Given the description of an element on the screen output the (x, y) to click on. 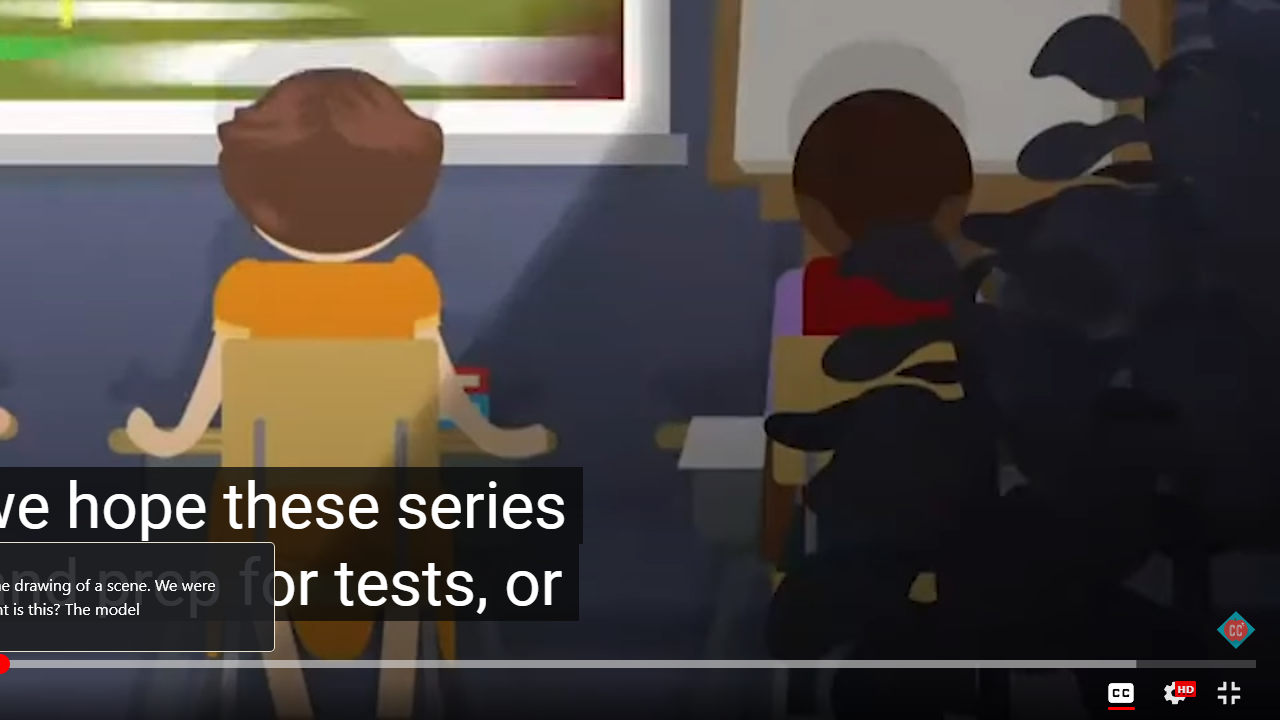
Channel watermark (1235, 629)
Subtitles/closed captions unavailable (1121, 693)
Channel watermark (1235, 629)
Full screen keyboard shortcut f (1228, 693)
